Given the description of an element on the screen output the (x, y) to click on. 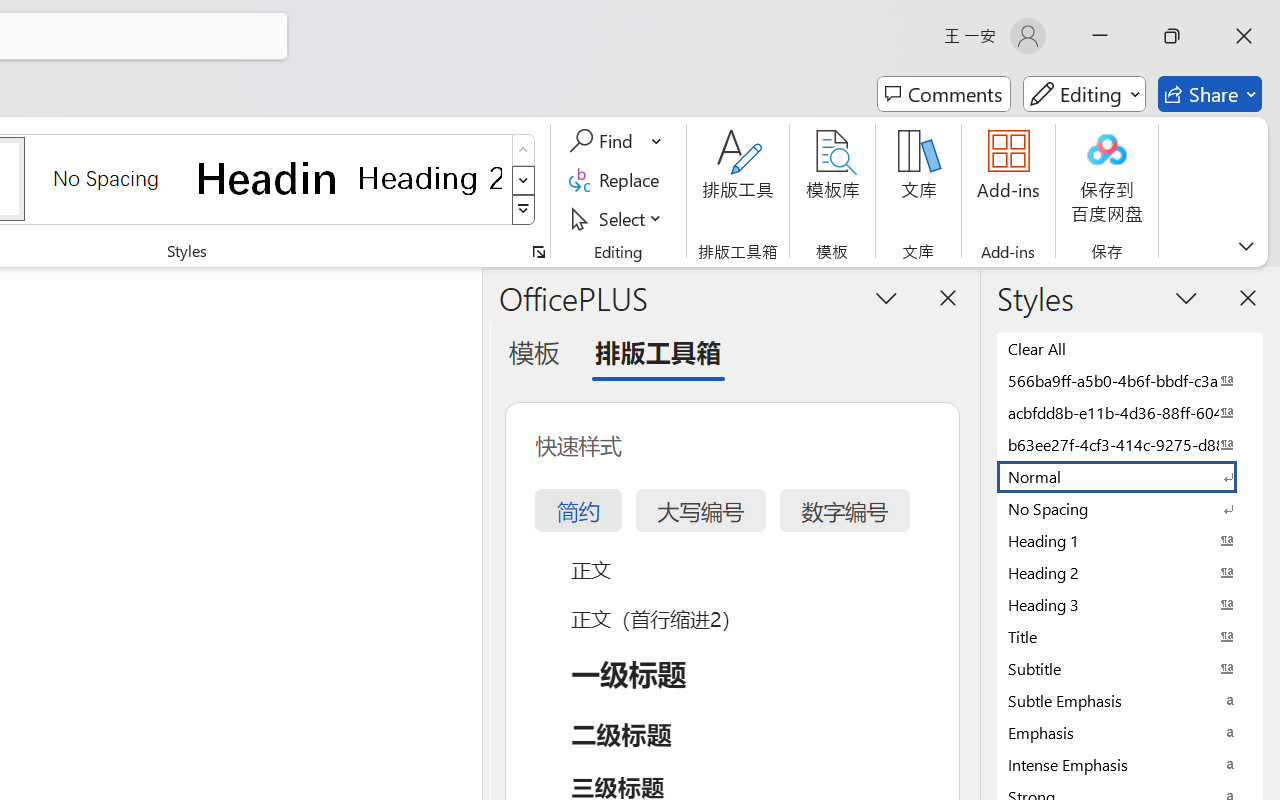
Mode (1083, 94)
Row Down (523, 180)
b63ee27f-4cf3-414c-9275-d88e3f90795e (1130, 444)
Intense Emphasis (1130, 764)
Styles (523, 209)
Heading 1 (267, 178)
Heading 2 (429, 178)
Task Pane Options (886, 297)
